Given the description of an element on the screen output the (x, y) to click on. 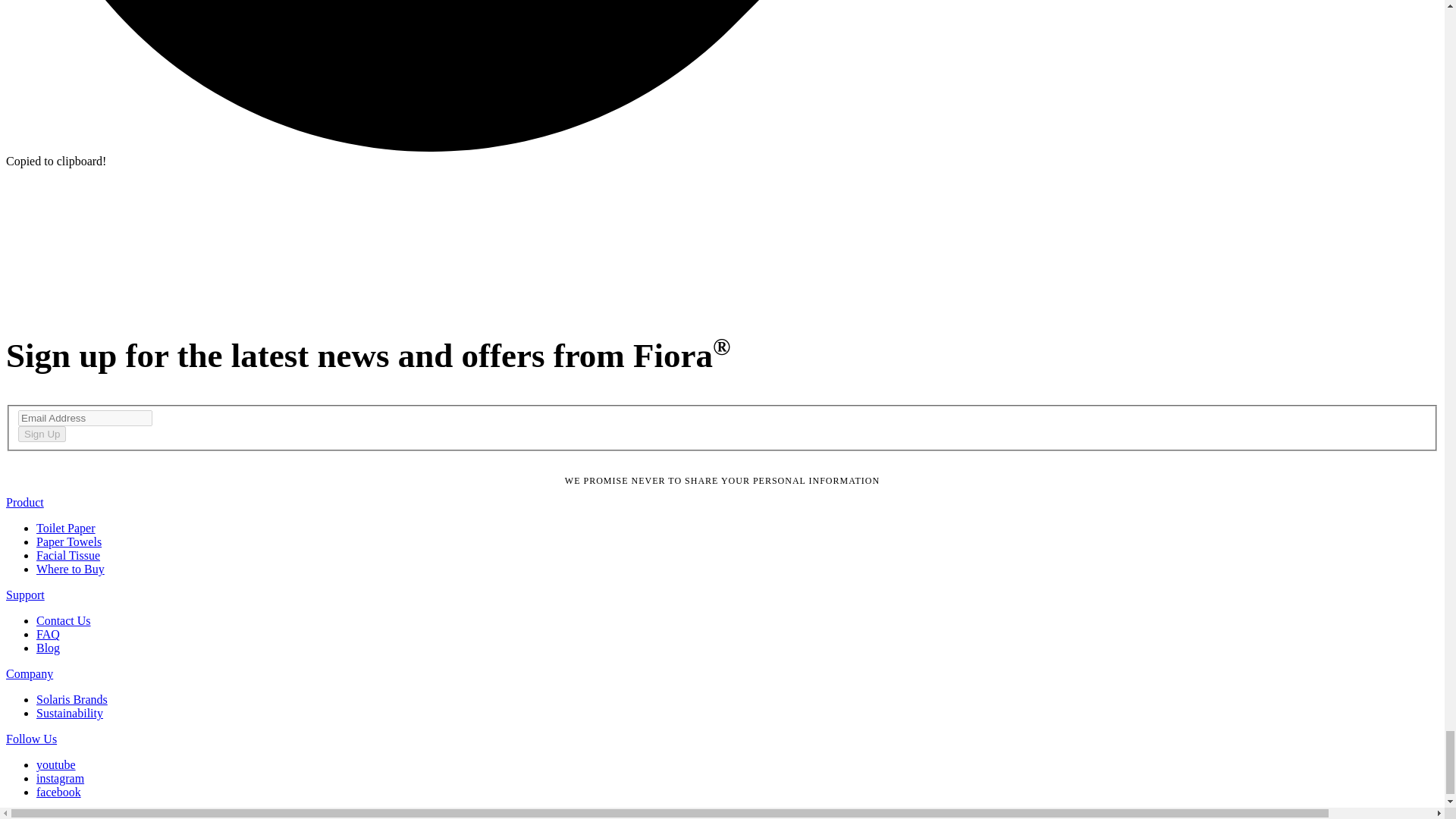
Sign Up (41, 433)
Facial Tissue (68, 554)
Product (24, 502)
Sign Up (41, 433)
Sustainability (69, 712)
Paper Towels (68, 541)
Where to Buy (70, 568)
Blog (47, 647)
Company (28, 673)
youtube (55, 764)
Toilet Paper (66, 527)
Support (25, 594)
Follow Us (30, 738)
FAQ (47, 634)
facebook (58, 791)
